Given the description of an element on the screen output the (x, y) to click on. 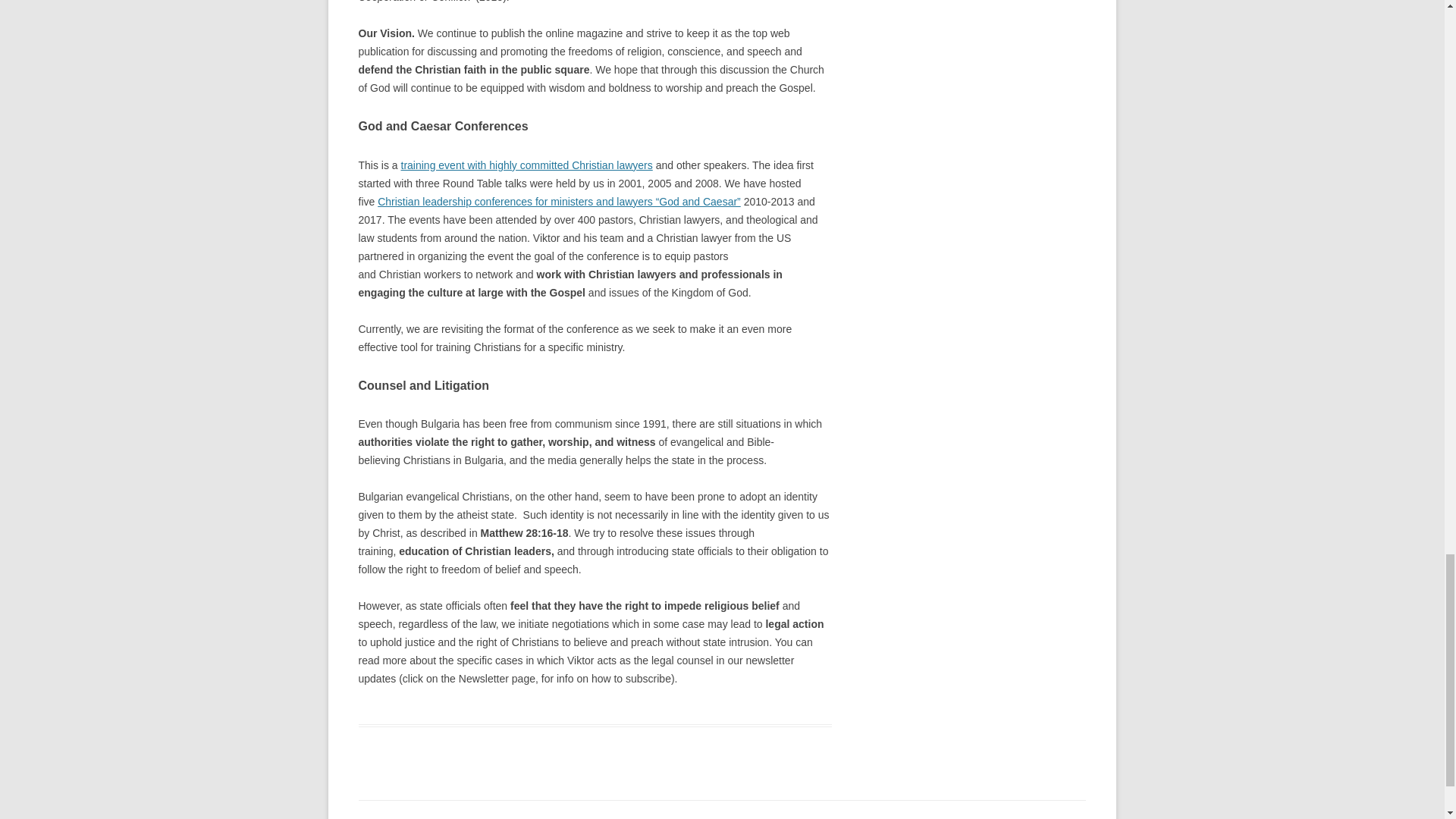
God and Caesar 2012 web site (559, 201)
training event with highly committed Christian lawyers (526, 164)
